Given the description of an element on the screen output the (x, y) to click on. 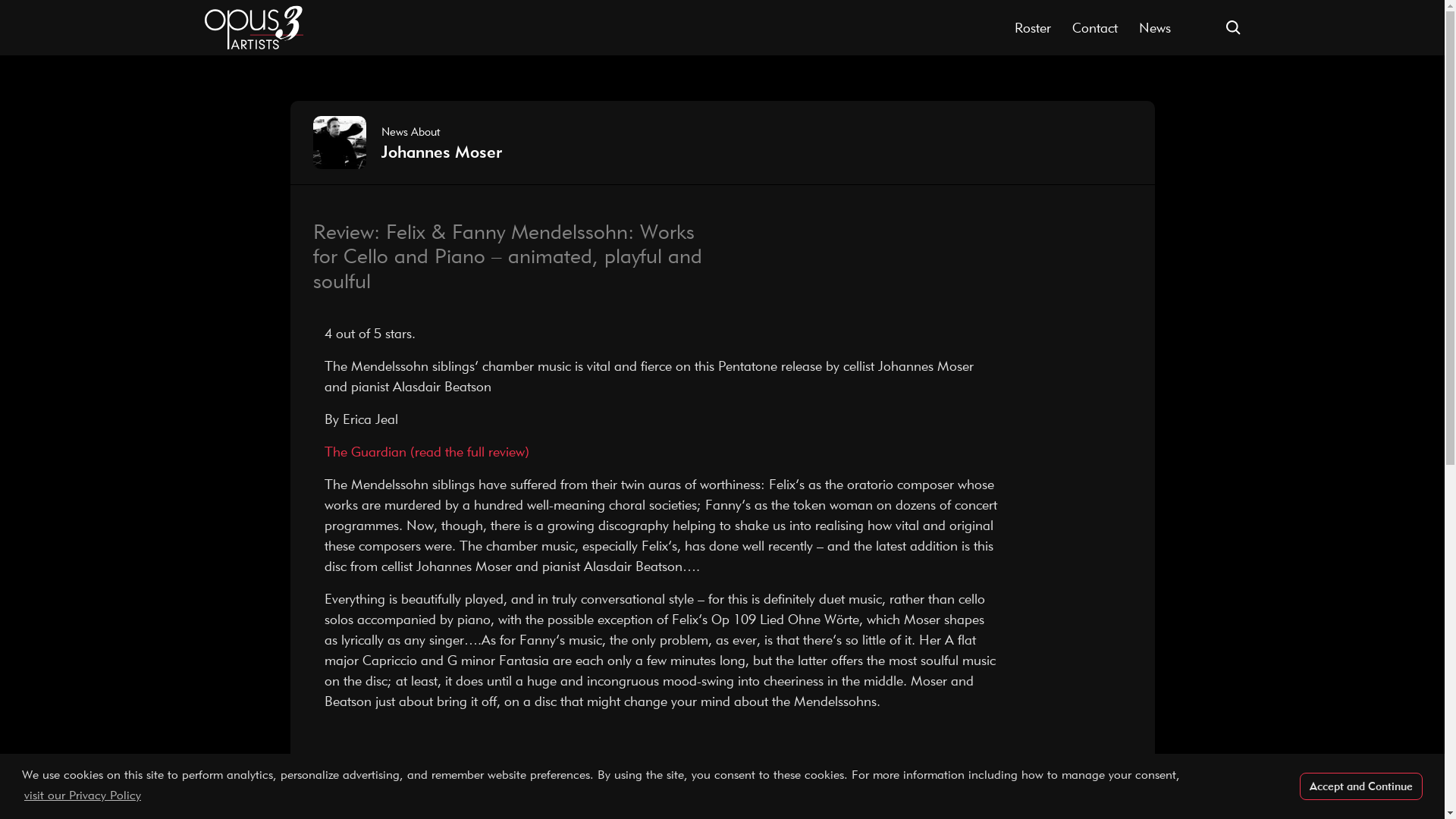
Contact (1094, 27)
Roster (1032, 27)
Accept and Continue (1361, 786)
visit our Privacy Policy (81, 794)
News (1154, 27)
